Given the description of an element on the screen output the (x, y) to click on. 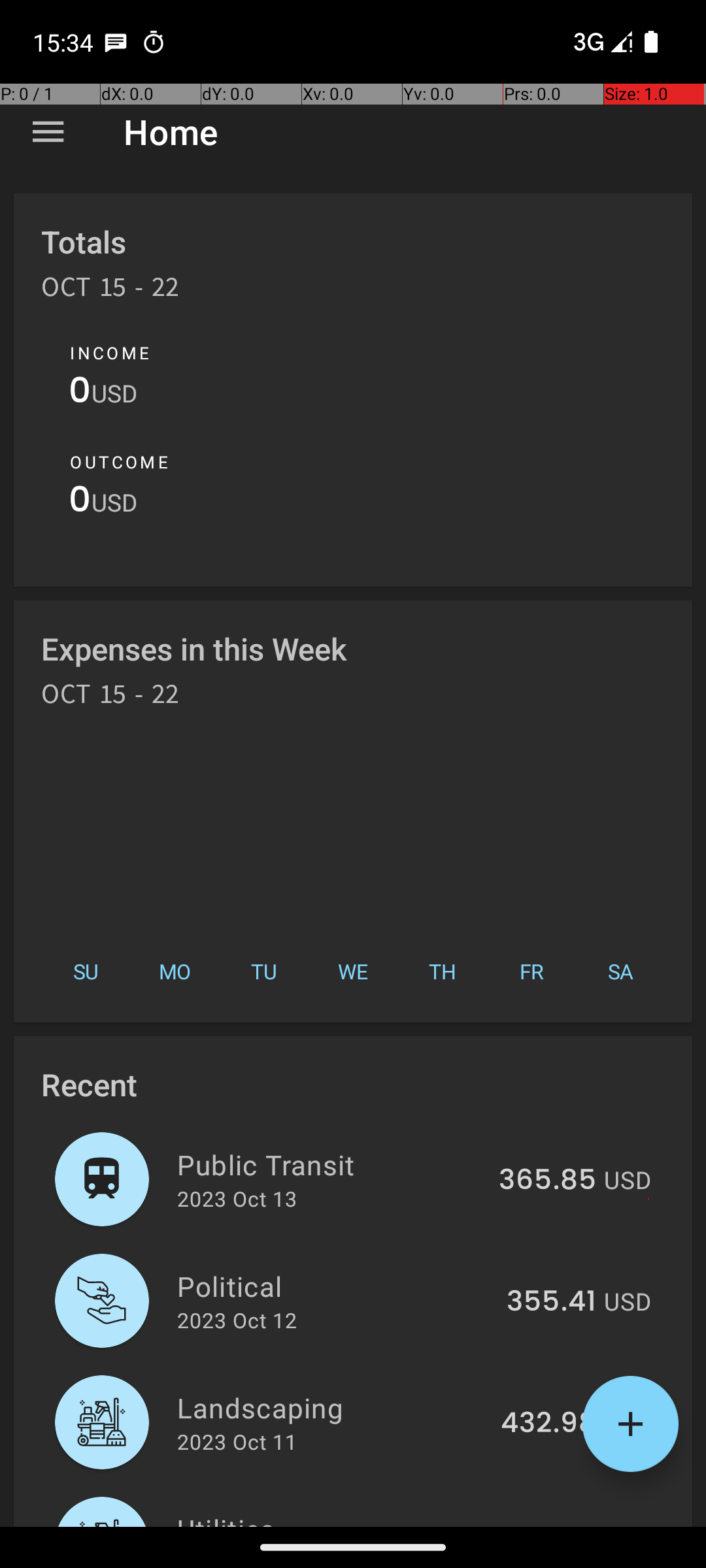
Public Transit Element type: android.widget.TextView (330, 1164)
365.85 Element type: android.widget.TextView (547, 1180)
Political Element type: android.widget.TextView (334, 1285)
355.41 Element type: android.widget.TextView (550, 1301)
Landscaping Element type: android.widget.TextView (331, 1407)
432.98 Element type: android.widget.TextView (548, 1423)
Utilities Element type: android.widget.TextView (331, 1518)
333.89 Element type: android.widget.TextView (548, 1524)
SMS Messenger notification: Sophie Gonzalez Element type: android.widget.ImageView (115, 41)
